Given the description of an element on the screen output the (x, y) to click on. 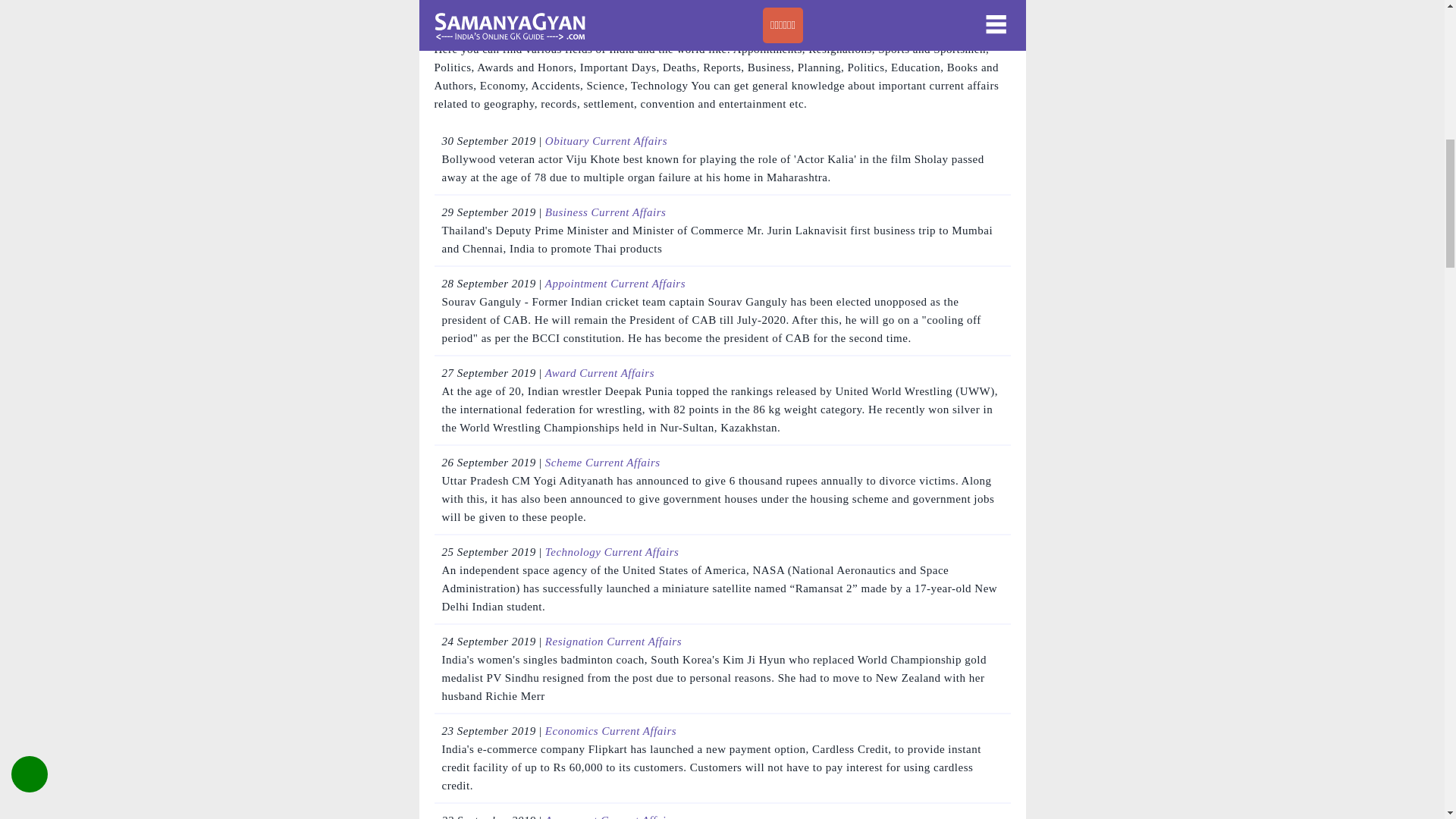
Scheme Current Affairs (602, 462)
Technology Current Affairs (611, 551)
Economics Current Affairs (610, 730)
Obituary Current Affairs (605, 141)
Resignation Current Affairs (612, 641)
Appointment Current Affairs (614, 283)
Business Current Affairs (605, 212)
Award Current Affairs (598, 372)
Agreement Current Affairs (609, 816)
